Given the description of an element on the screen output the (x, y) to click on. 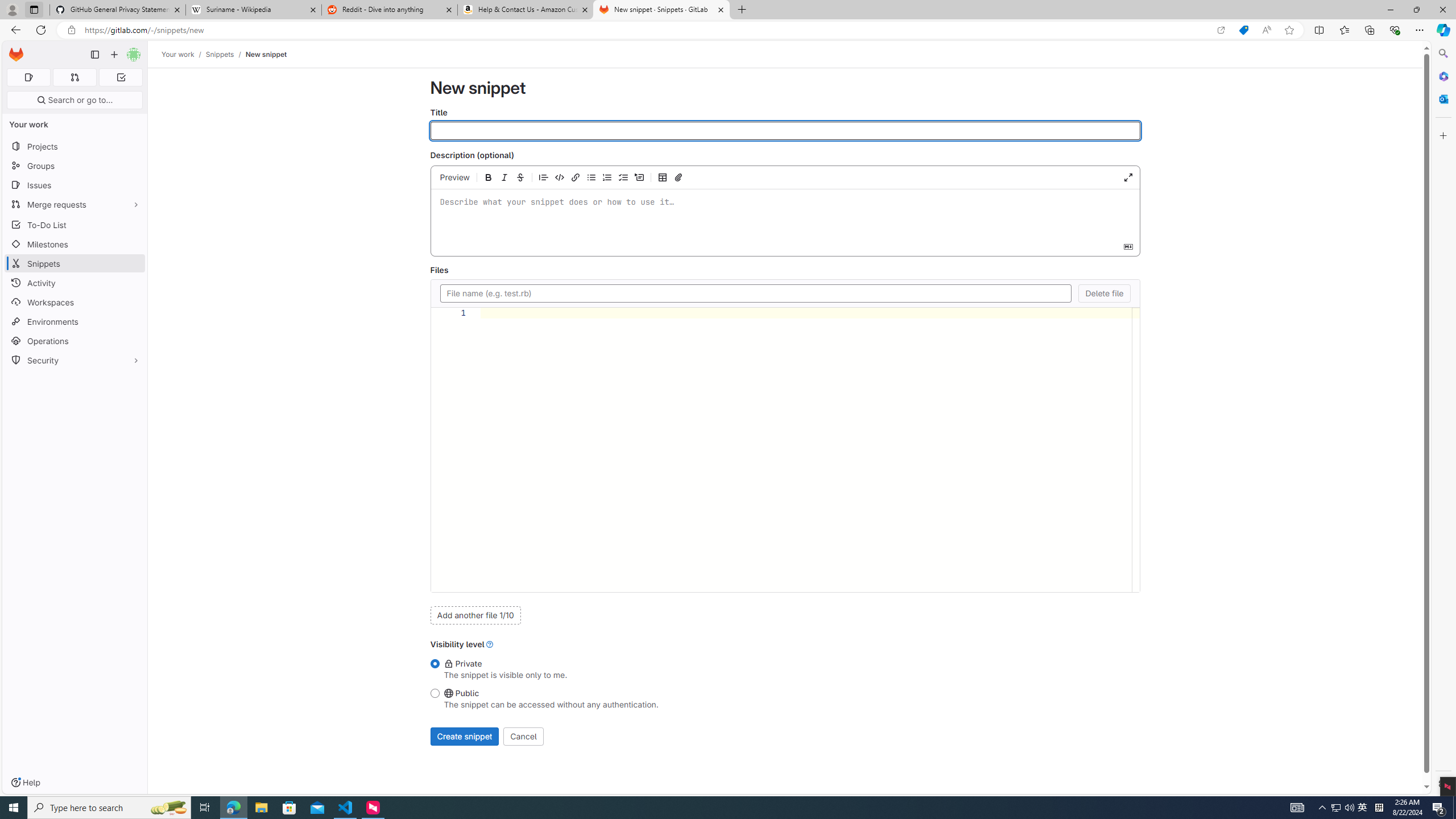
Your work (178, 53)
To-Do list 0 (120, 76)
Cancel (523, 736)
Groups (74, 165)
Add a link (Ctrl+K) (575, 177)
Activity (74, 282)
Reddit - Dive into anything (390, 9)
Create snippet (464, 736)
Projects (74, 145)
Class: div-dropzone-icon s24 (783, 214)
Files (755, 293)
